Given the description of an element on the screen output the (x, y) to click on. 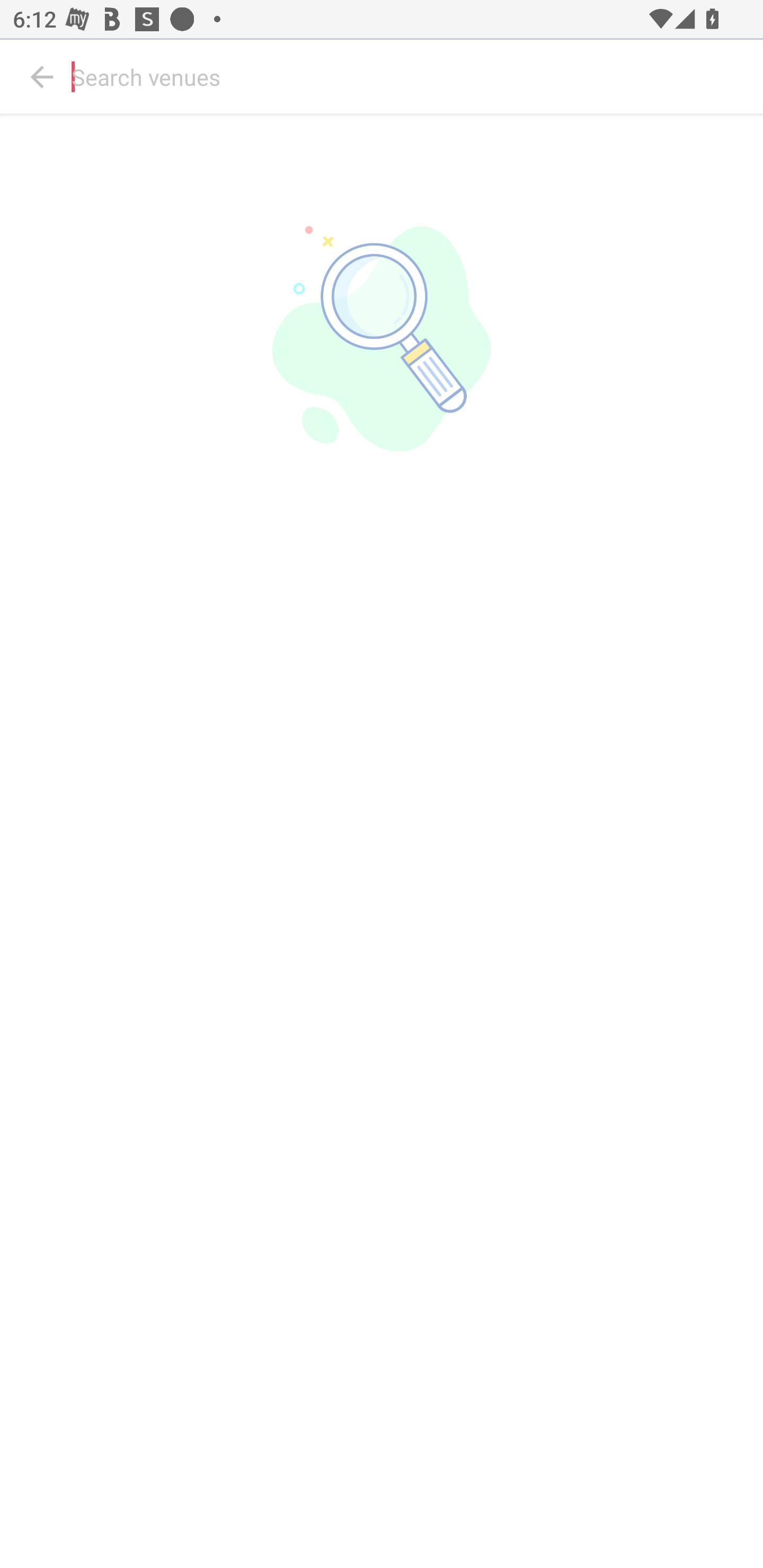
Back (42, 76)
Search venues (413, 76)
